Given the description of an element on the screen output the (x, y) to click on. 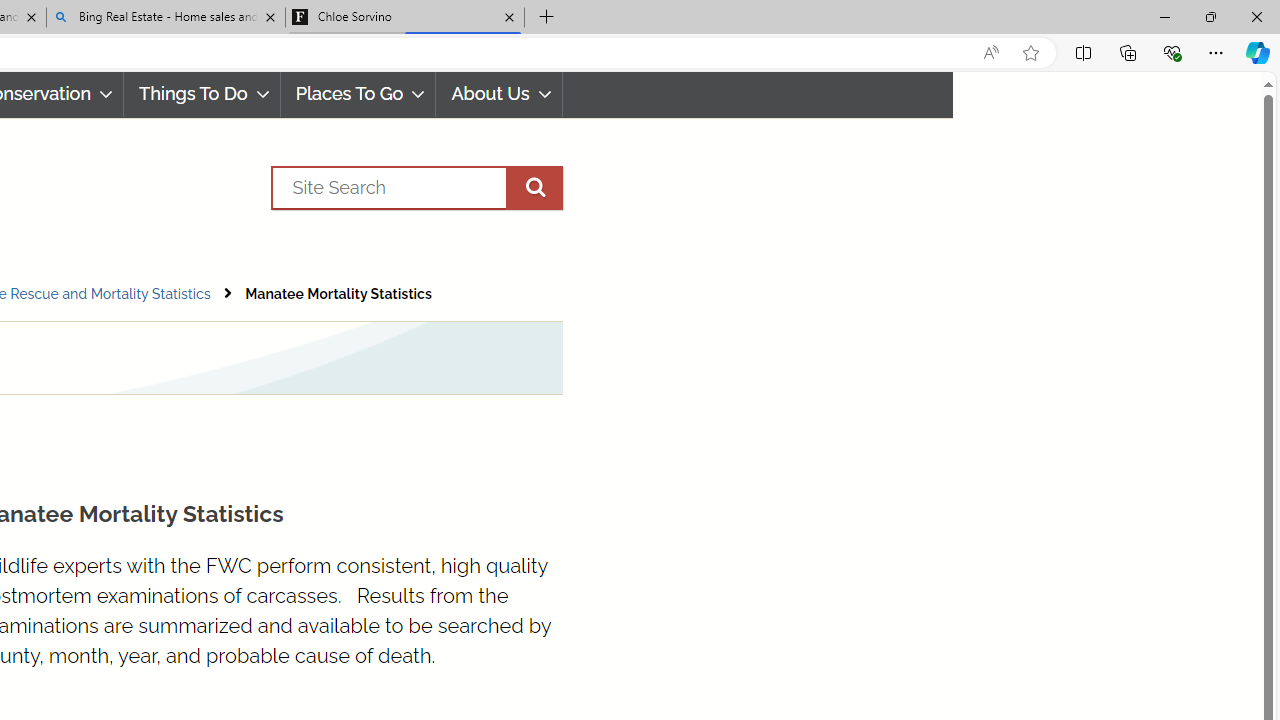
Chloe Sorvino (404, 17)
Things To Do (202, 94)
execute site search (534, 187)
Places To Go (358, 94)
About Us (498, 94)
Search (416, 187)
About Us (499, 94)
Bing Real Estate - Home sales and rental listings (166, 17)
